Given the description of an element on the screen output the (x, y) to click on. 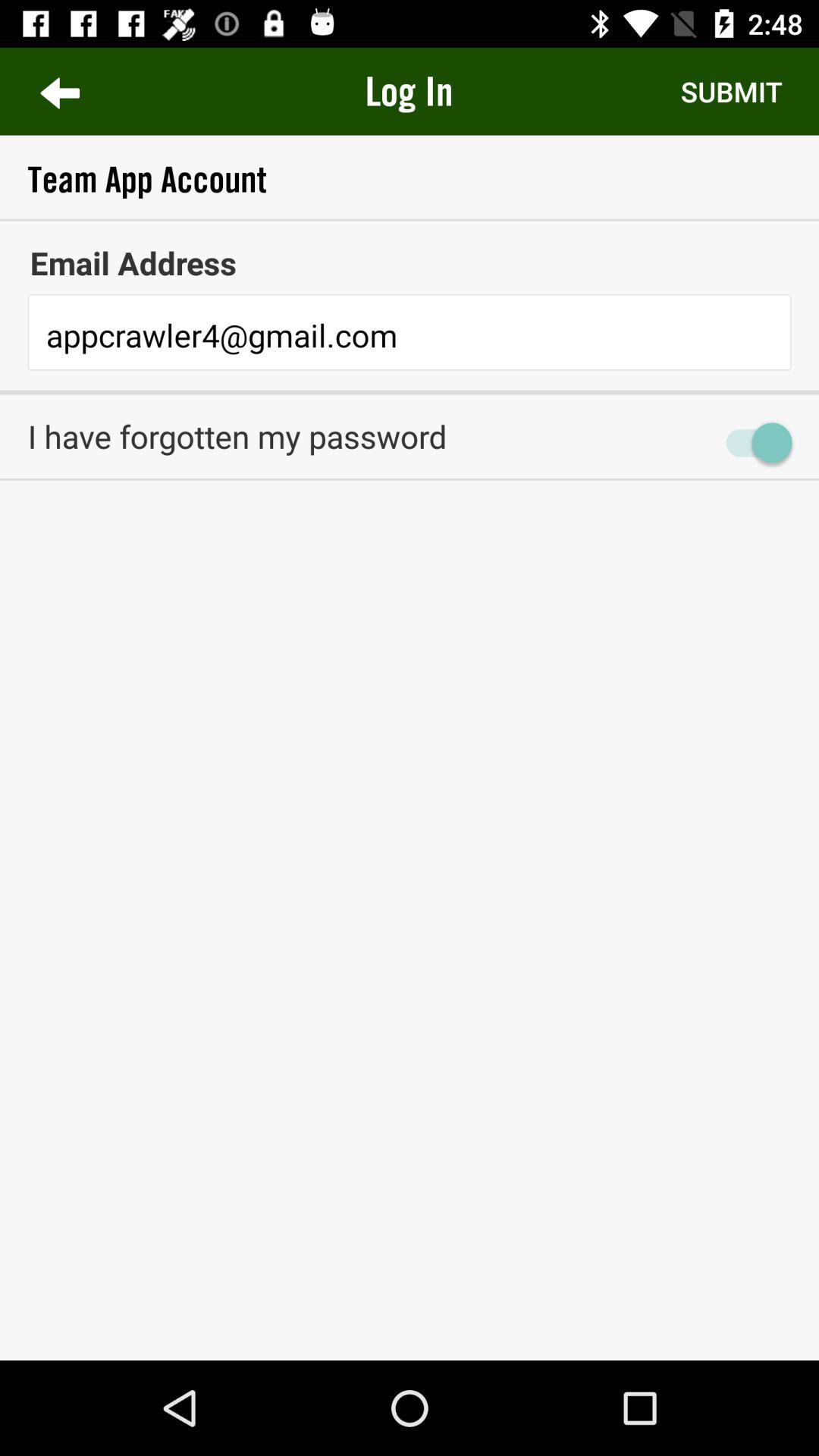
turn off the icon above appcrawler4@gmail.com (409, 262)
